Given the description of an element on the screen output the (x, y) to click on. 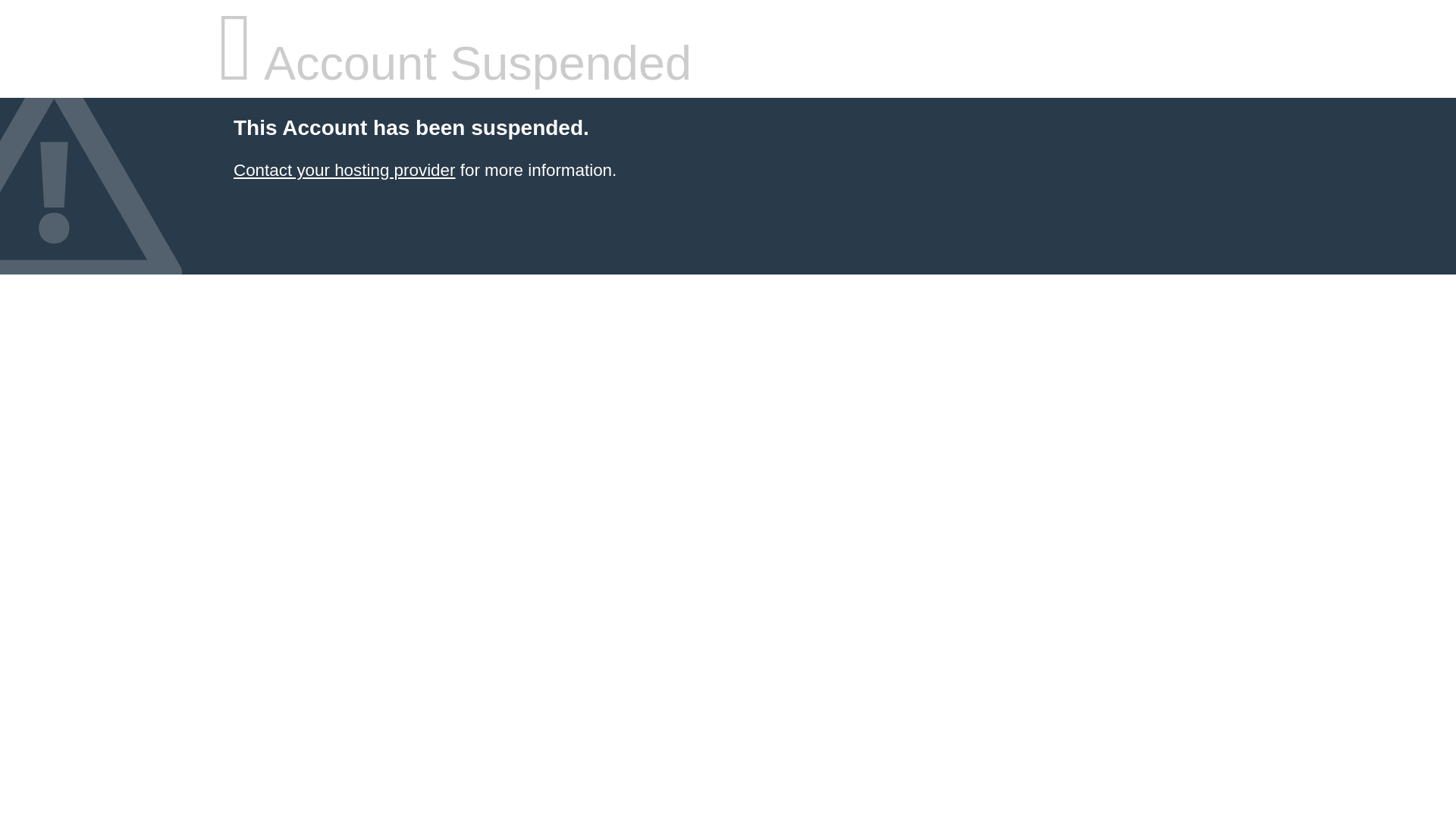
Contact your hosting provider (343, 169)
